Given the description of an element on the screen output the (x, y) to click on. 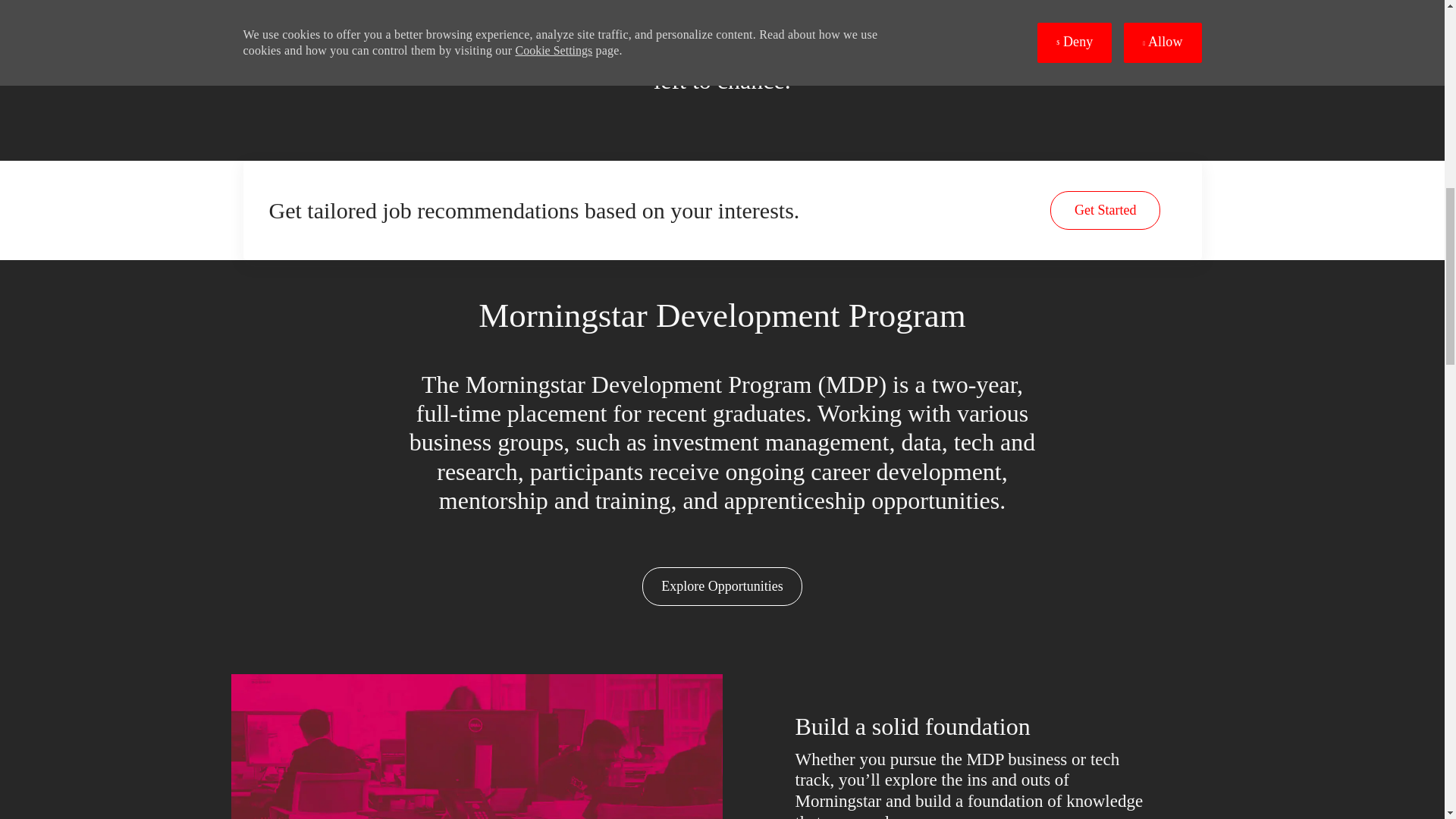
Explore Opportunities (722, 586)
Explore Opportunities (722, 586)
Get Started (1104, 210)
